Given the description of an element on the screen output the (x, y) to click on. 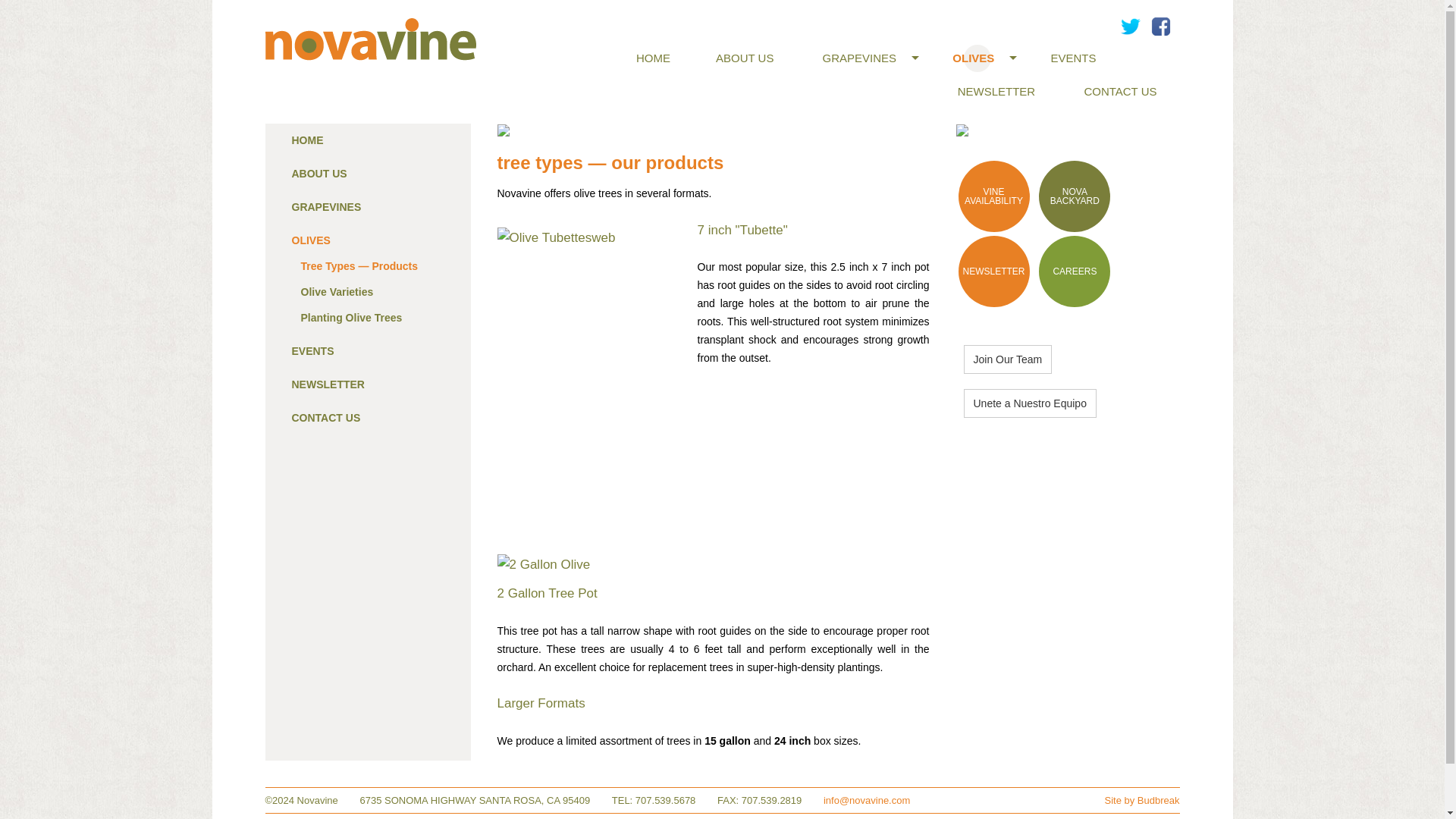
NEWSLETTER (996, 91)
View Our Job Board (1074, 271)
ABOUT US (318, 173)
Sign up for the Novavine newsletter (993, 271)
GRAPEVINES (863, 58)
CONTACT US (1120, 91)
HOME (307, 140)
GRAPEVINES (326, 206)
EVENTS (1072, 58)
OLIVES (310, 240)
